Given the description of an element on the screen output the (x, y) to click on. 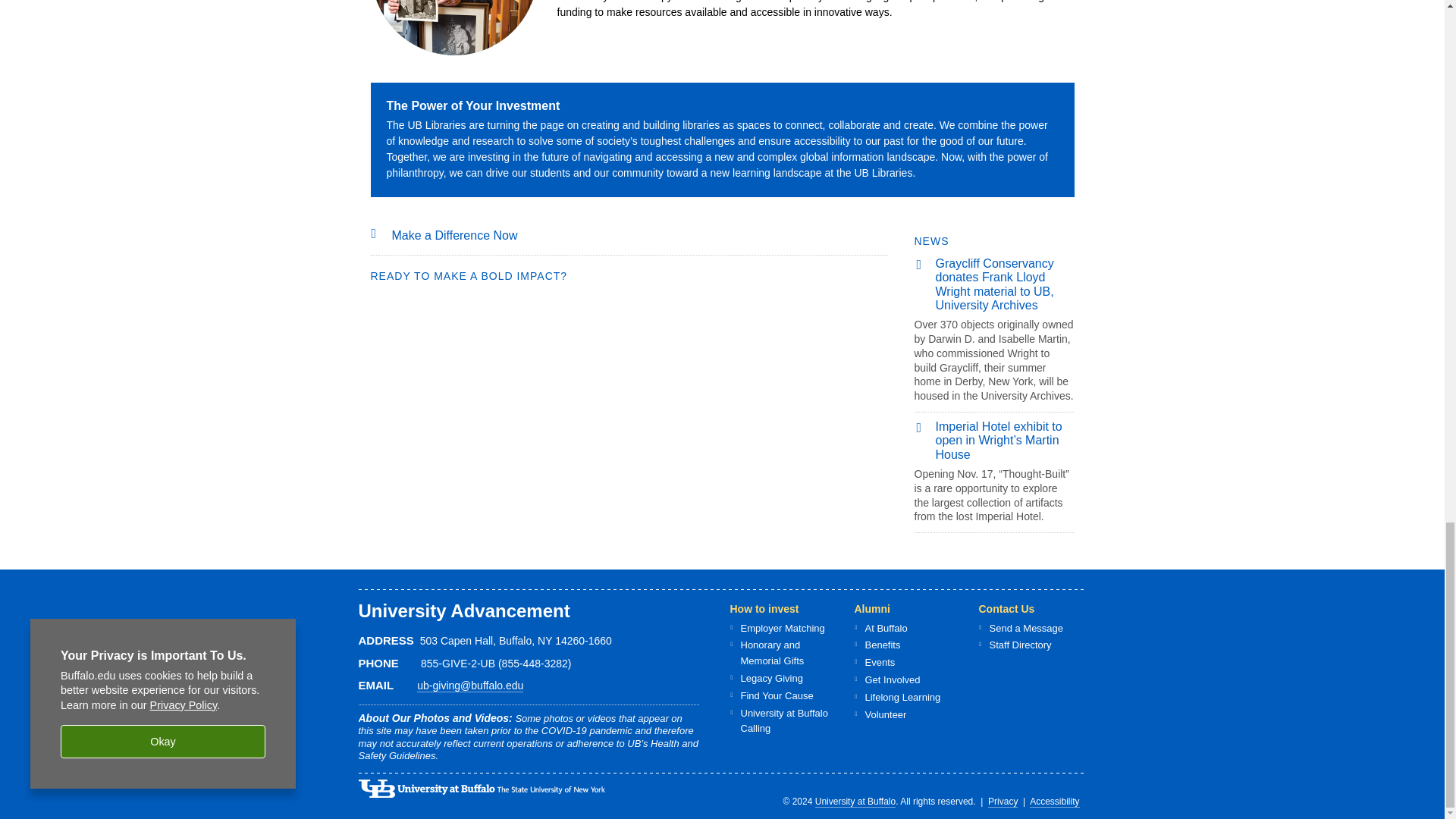
Legacy Giving (770, 677)
University Advancement (463, 610)
Employer Matching (781, 627)
Make a Difference Now (453, 235)
Honorary and Memorial Gifts (771, 652)
